Given the description of an element on the screen output the (x, y) to click on. 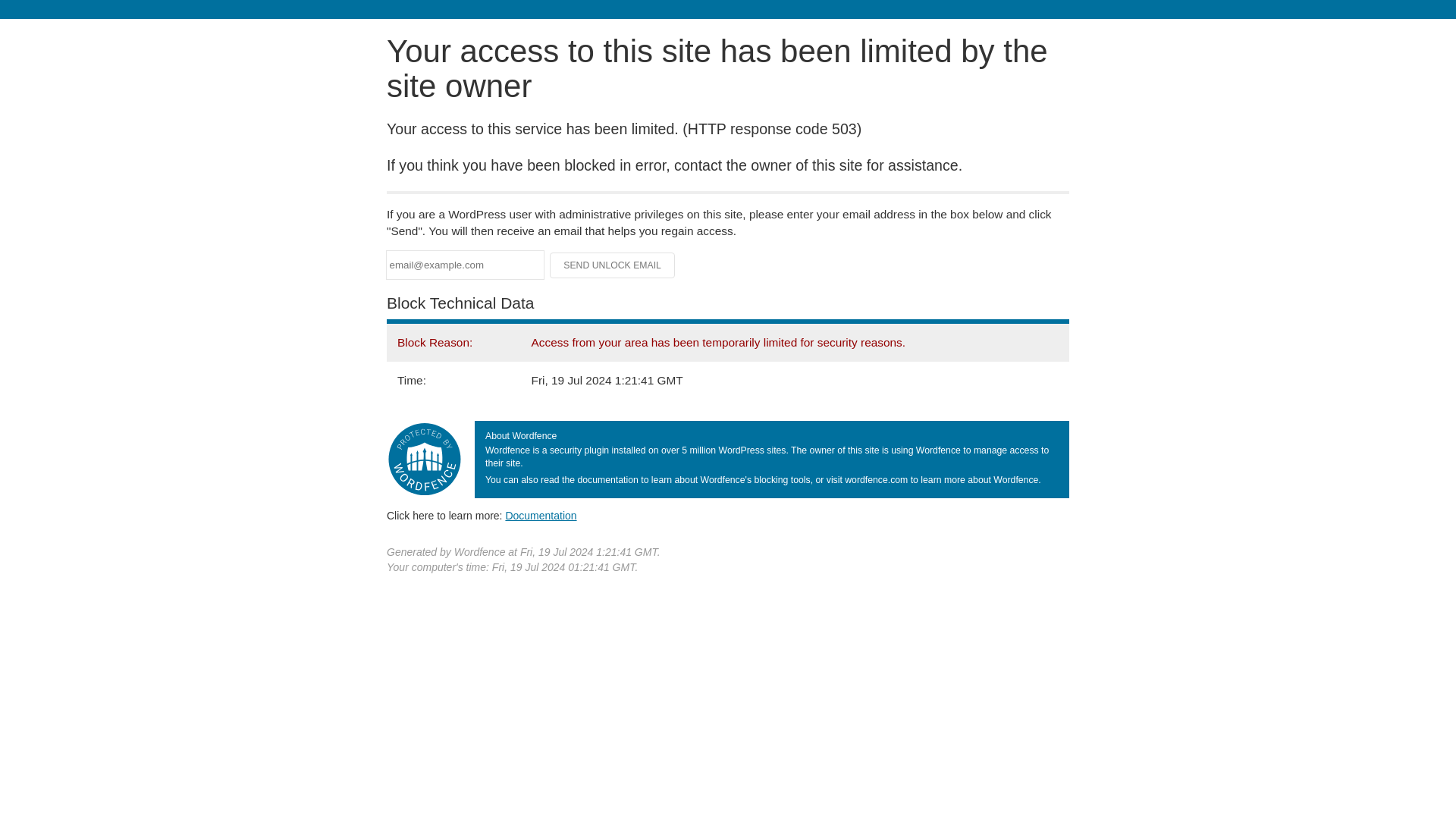
Documentation (540, 515)
Send Unlock Email (612, 265)
Send Unlock Email (612, 265)
